Given the description of an element on the screen output the (x, y) to click on. 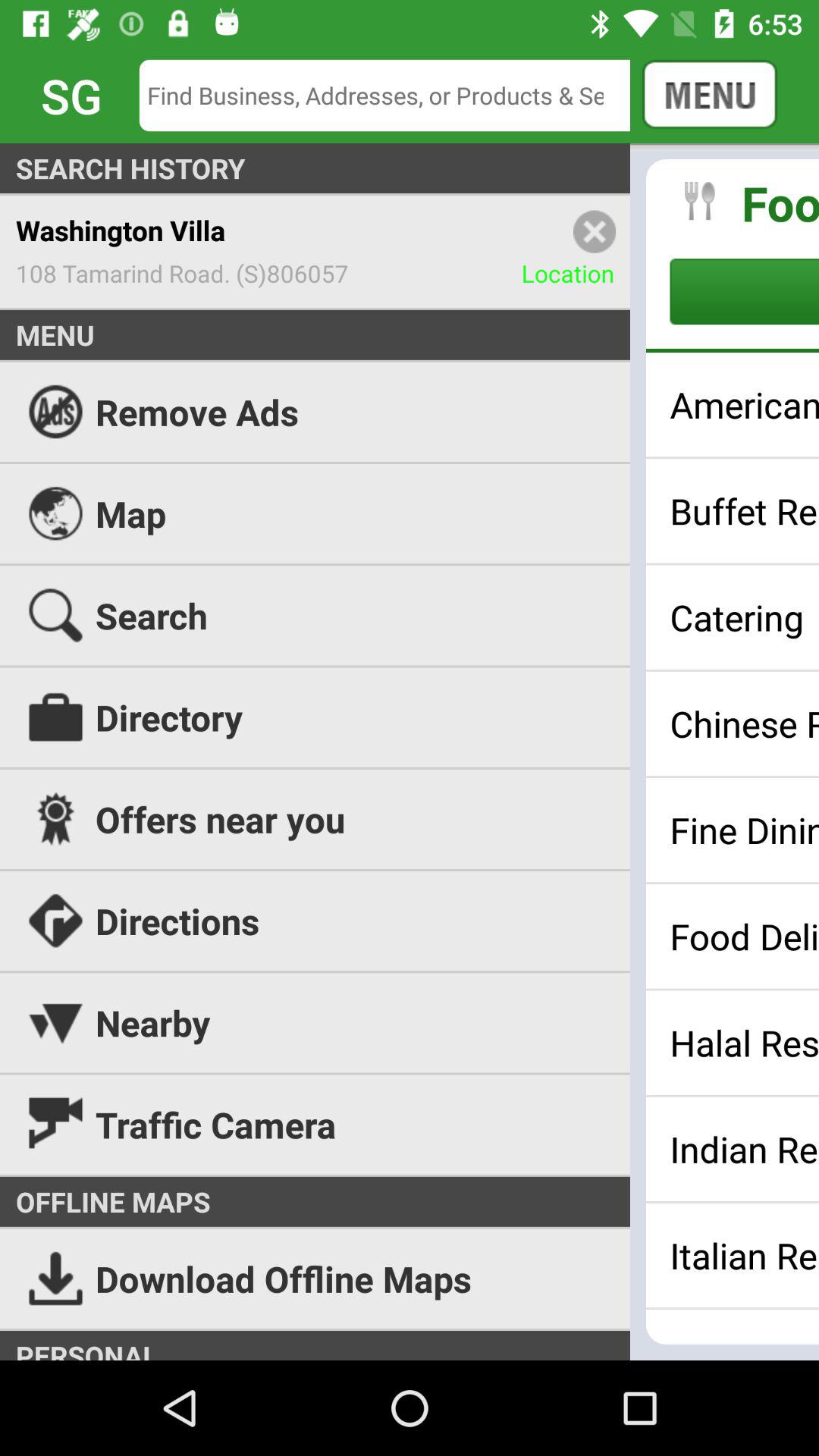
perform search (395, 95)
